Given the description of an element on the screen output the (x, y) to click on. 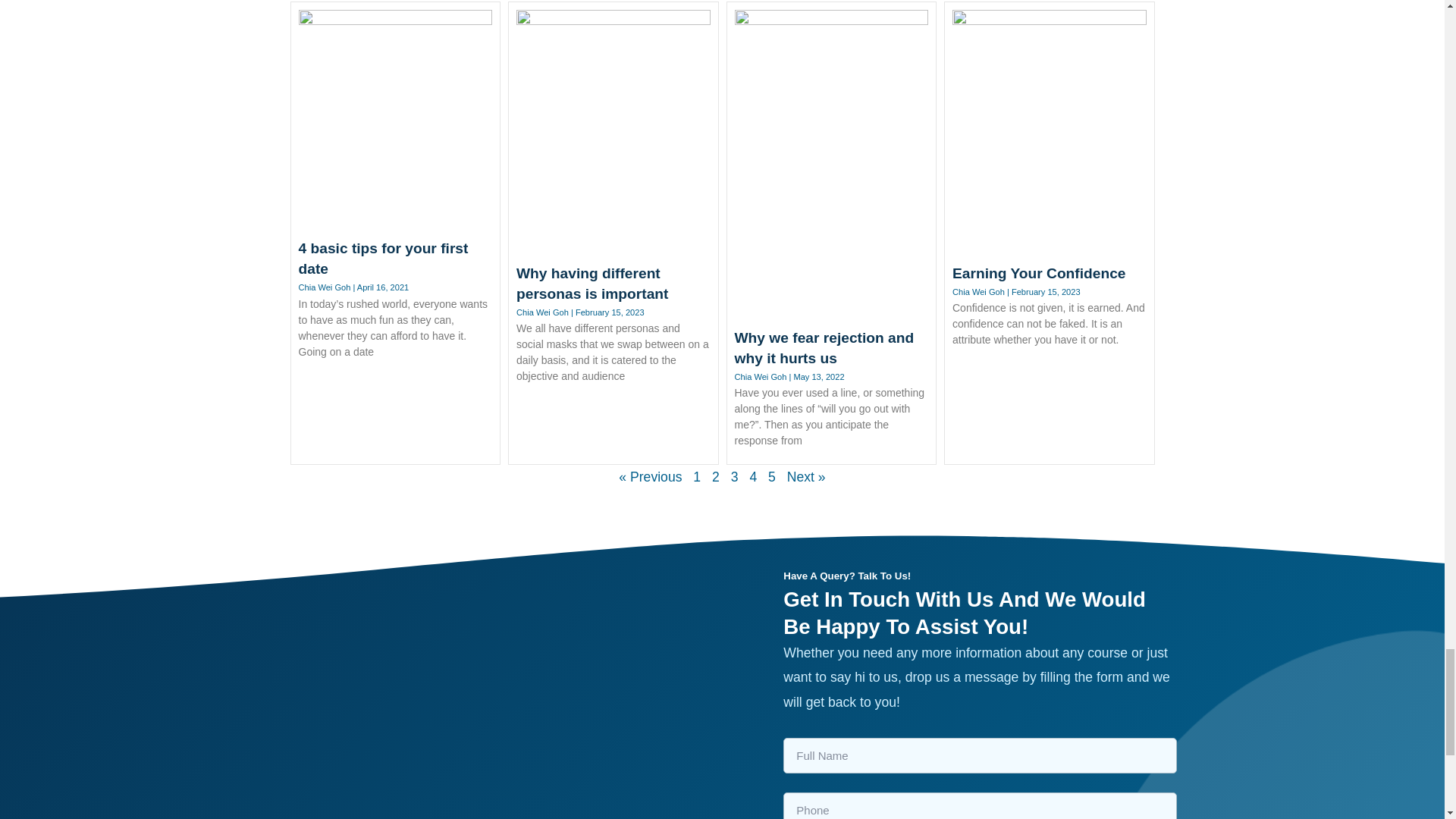
Earning Your Confidence (1038, 273)
Why having different personas is important (592, 283)
Why we fear rejection and why it hurts us (823, 348)
4 basic tips for your first date (383, 258)
